Given the description of an element on the screen output the (x, y) to click on. 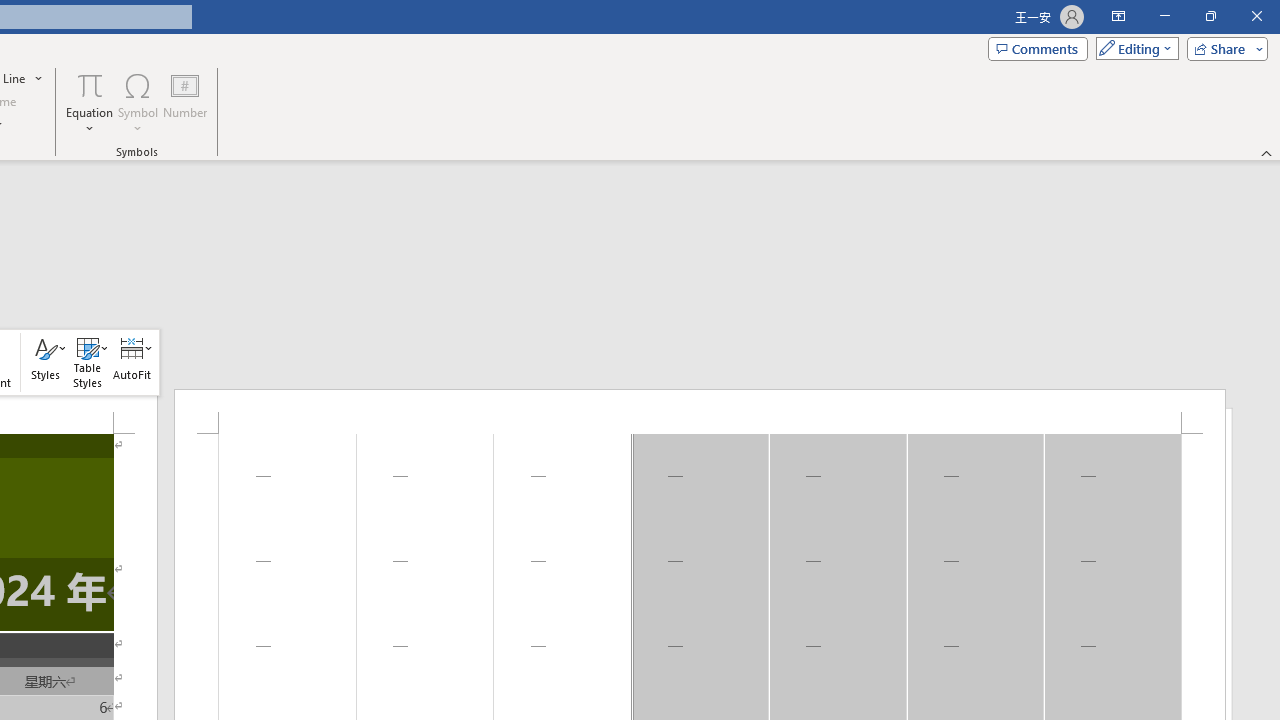
Styles (45, 361)
Mode (1133, 47)
AutoFit (132, 361)
Symbol (138, 102)
Equation (90, 102)
Equation (90, 84)
Number... (185, 102)
